Given the description of an element on the screen output the (x, y) to click on. 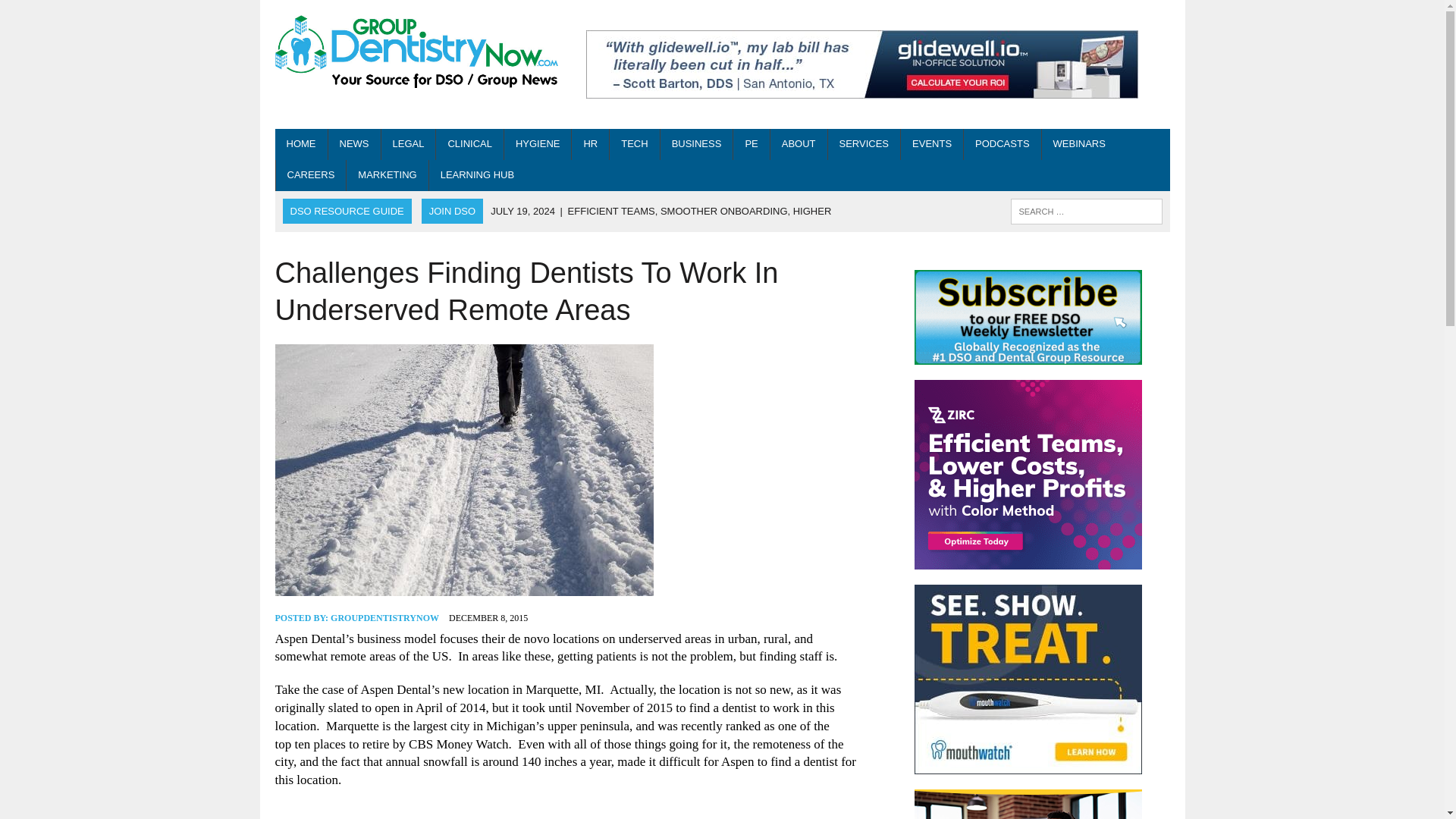
LEGAL (407, 143)
HYGIENE (537, 143)
SERVICES (864, 143)
PE (750, 143)
ABOUT (798, 143)
BUSINESS (697, 143)
HR (590, 143)
WEBINARS (1079, 143)
Group Dentistry Now (416, 52)
TECH (634, 143)
EVENTS (931, 143)
Consulting, Funding, Aquistion, Education for the DSO space (864, 143)
HOME (300, 143)
PODCASTS (1002, 143)
NEWS (353, 143)
